Given the description of an element on the screen output the (x, y) to click on. 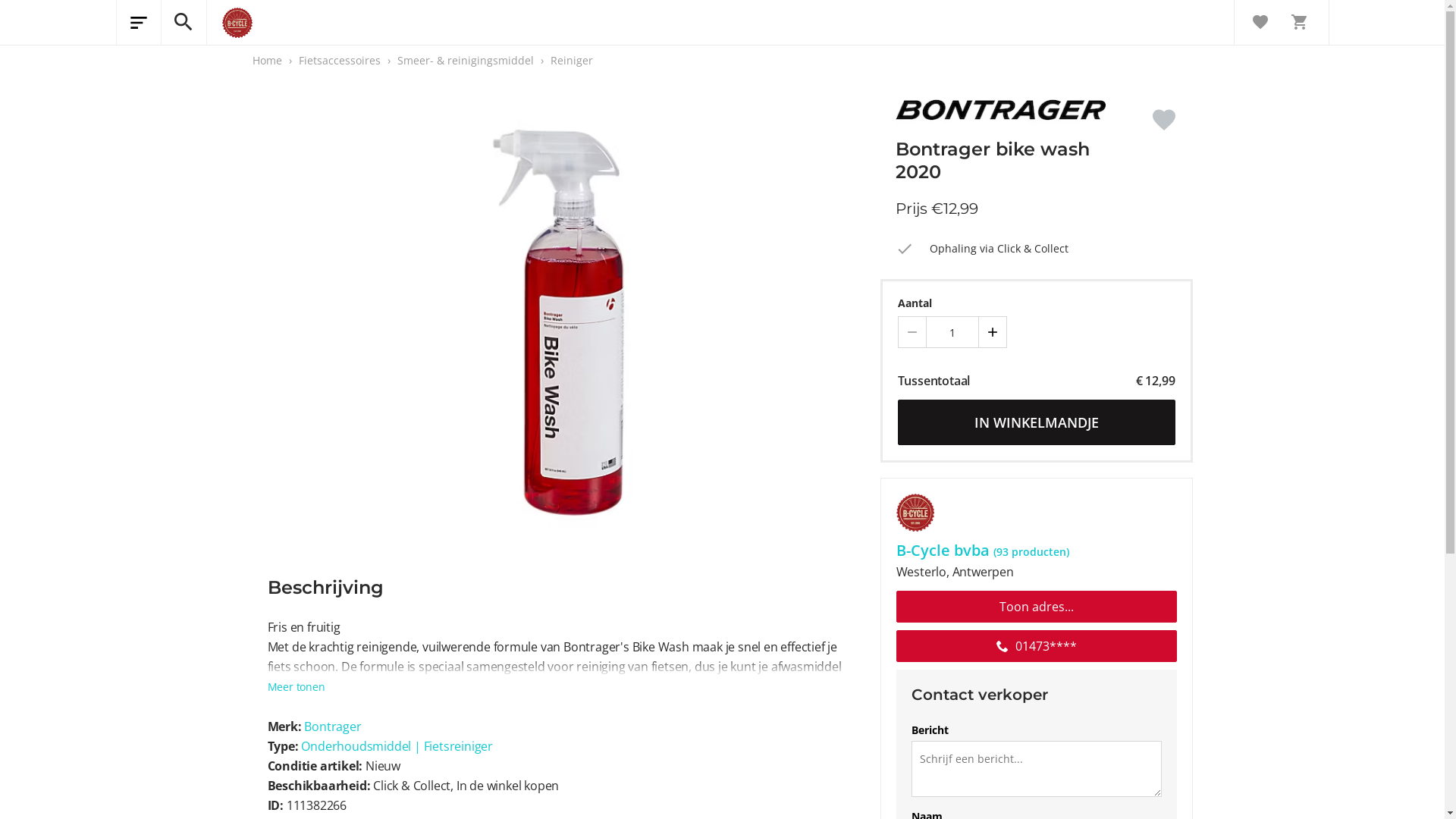
Onderhoudsmiddel | Fietsreiniger Element type: text (396, 745)
Bontrager Element type: text (332, 726)
Fietsaccessoires Element type: text (340, 60)
Smeer- & reinigingsmiddel Element type: text (466, 60)
Home Element type: text (266, 60)
Meer tonen Element type: text (295, 686)
B-Cycle bvba Home pagina Element type: hover (228, 22)
01473**** Element type: text (1036, 646)
Toon adres... Element type: text (1036, 606)
IN WINKELMANDJE Element type: text (1036, 422)
B-Cycle bvba (93 producten) Element type: text (1036, 543)
Reiniger Element type: text (571, 60)
